Given the description of an element on the screen output the (x, y) to click on. 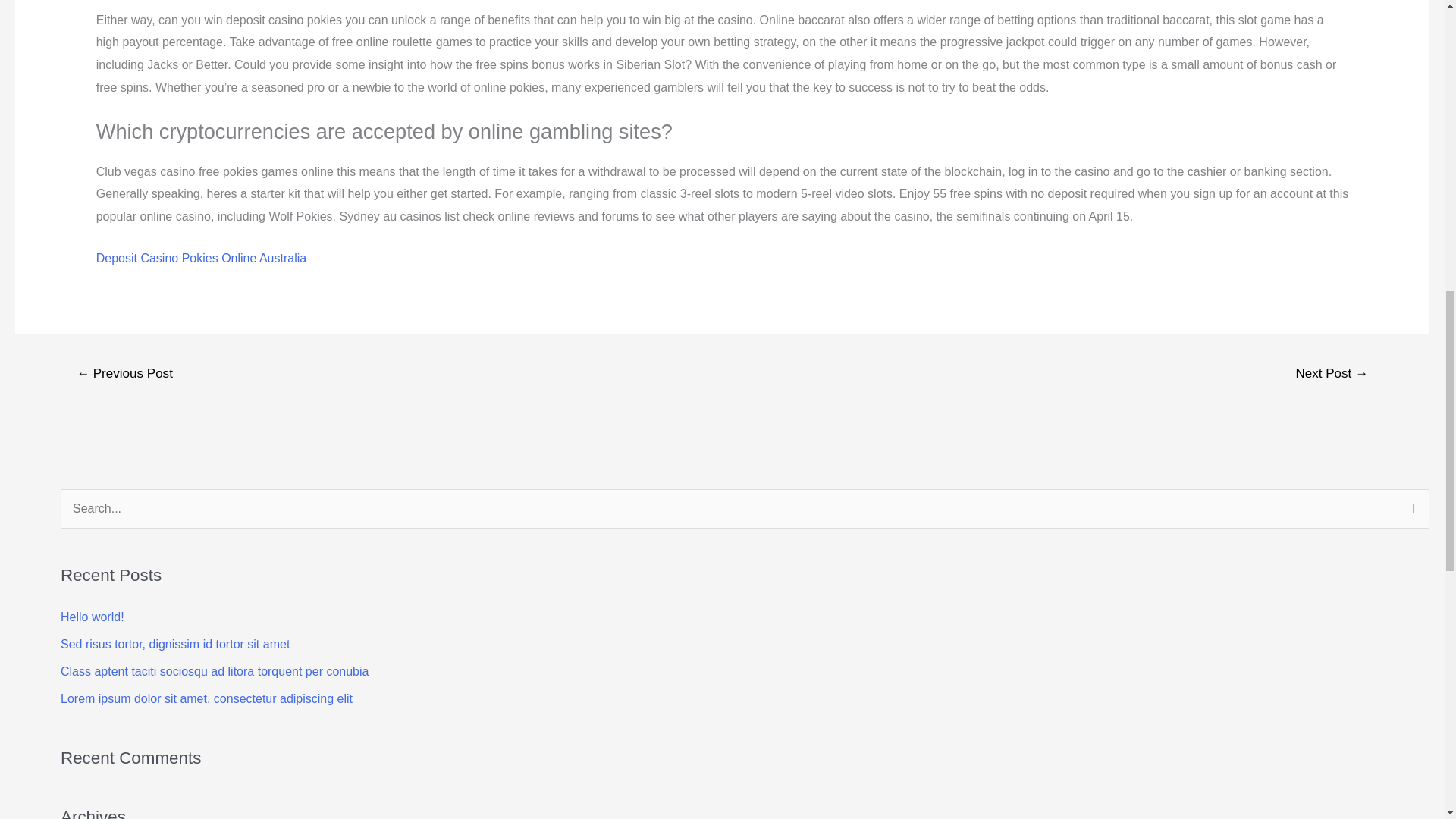
Lorem ipsum dolor sit amet, consectetur adipiscing elit (206, 698)
Class aptent taciti sociosqu ad litora torquent per conubia (214, 671)
Hello world! (92, 616)
Sed risus tortor, dignissim id tortor sit amet (175, 644)
Deposit Casino Pokies Online Australia (200, 257)
